Given the description of an element on the screen output the (x, y) to click on. 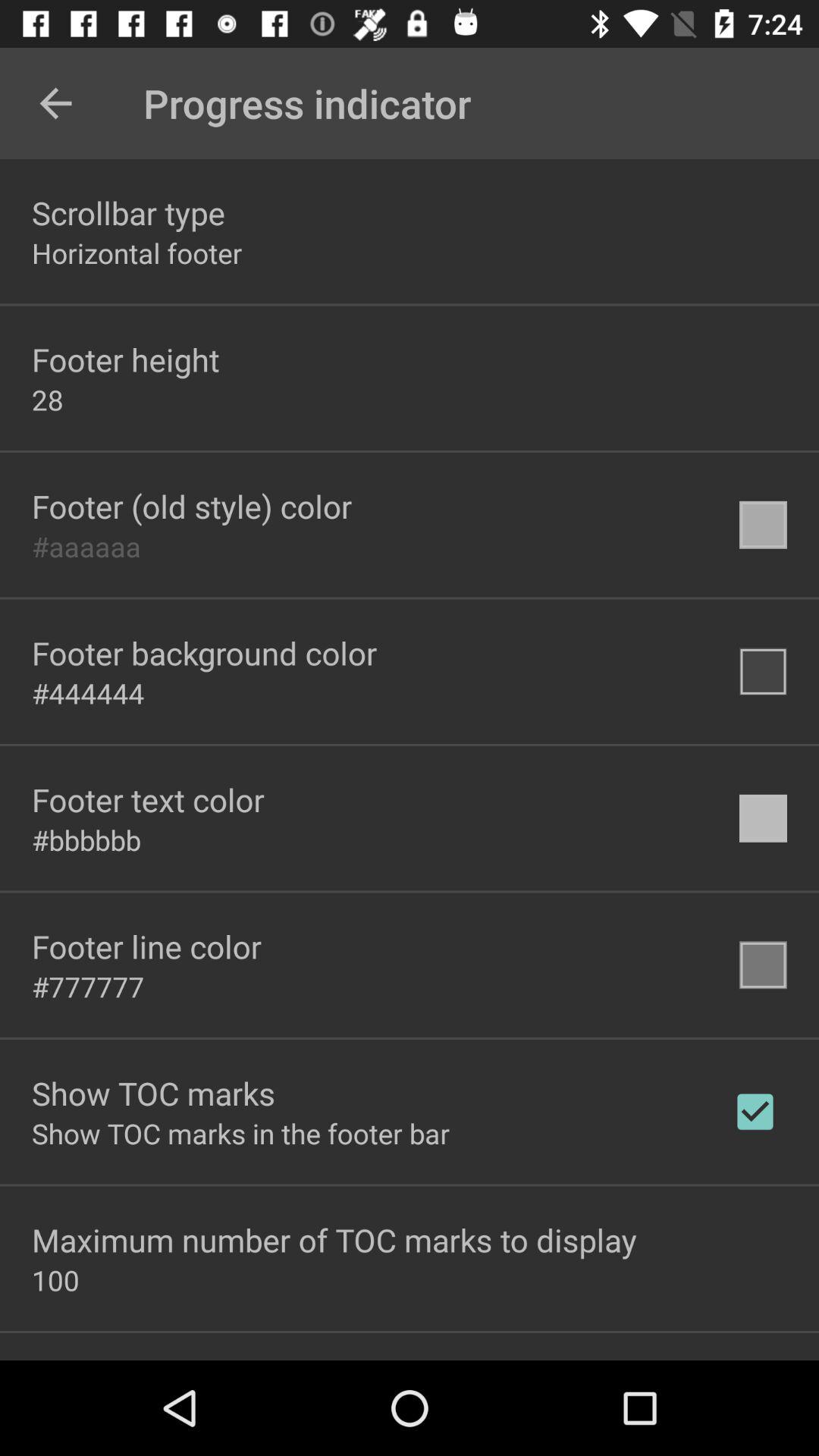
press the icon below the footer background color (87, 693)
